Given the description of an element on the screen output the (x, y) to click on. 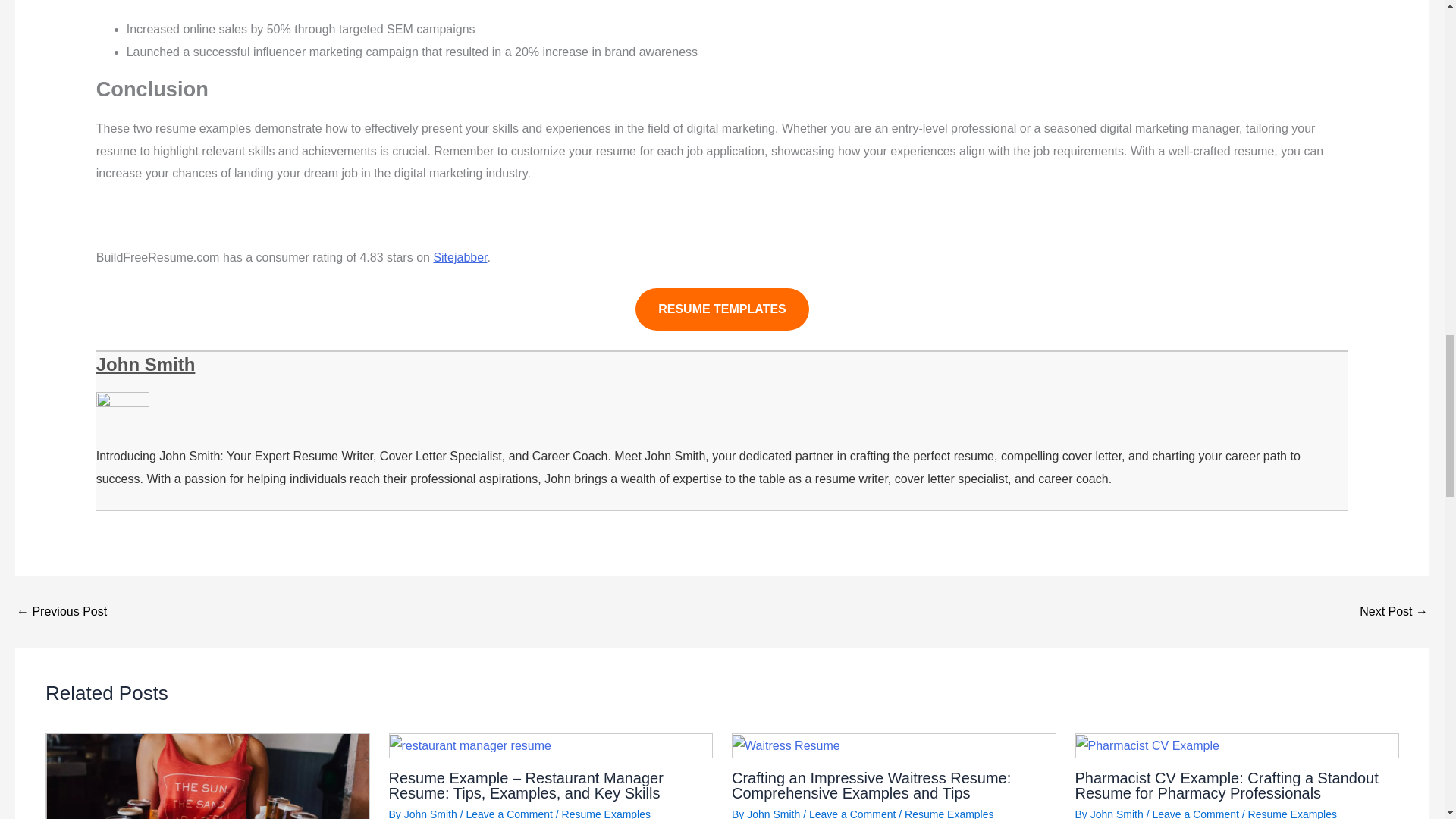
View all posts by John Smith (430, 813)
View all posts by John Smith (1116, 813)
All posts by John Smith (145, 363)
Content Writer Resume Examples (61, 612)
Business Analyst Resume Examples (1393, 612)
View all posts by John Smith (772, 813)
